Given the description of an element on the screen output the (x, y) to click on. 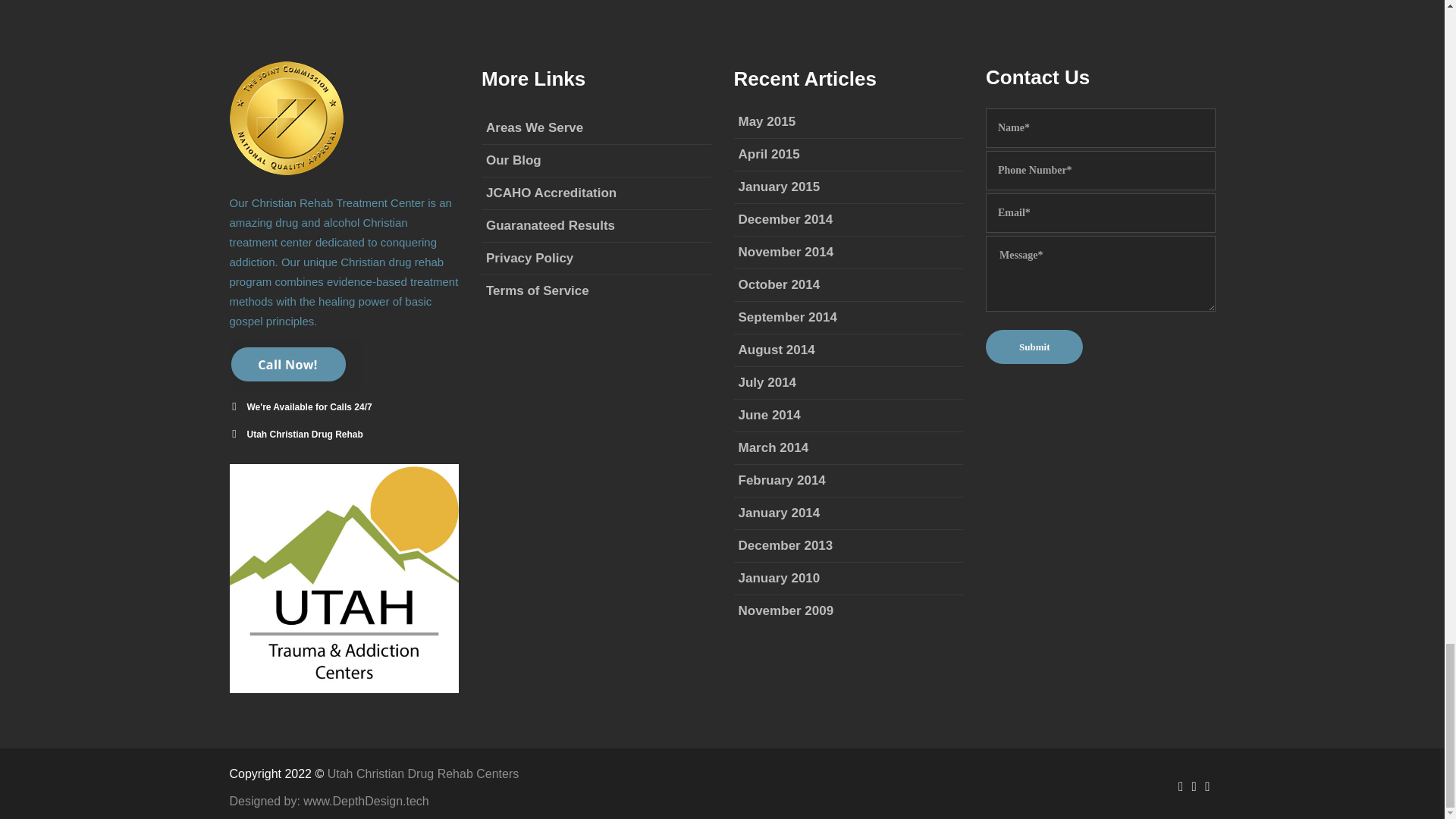
Submit (1034, 346)
